Given the description of an element on the screen output the (x, y) to click on. 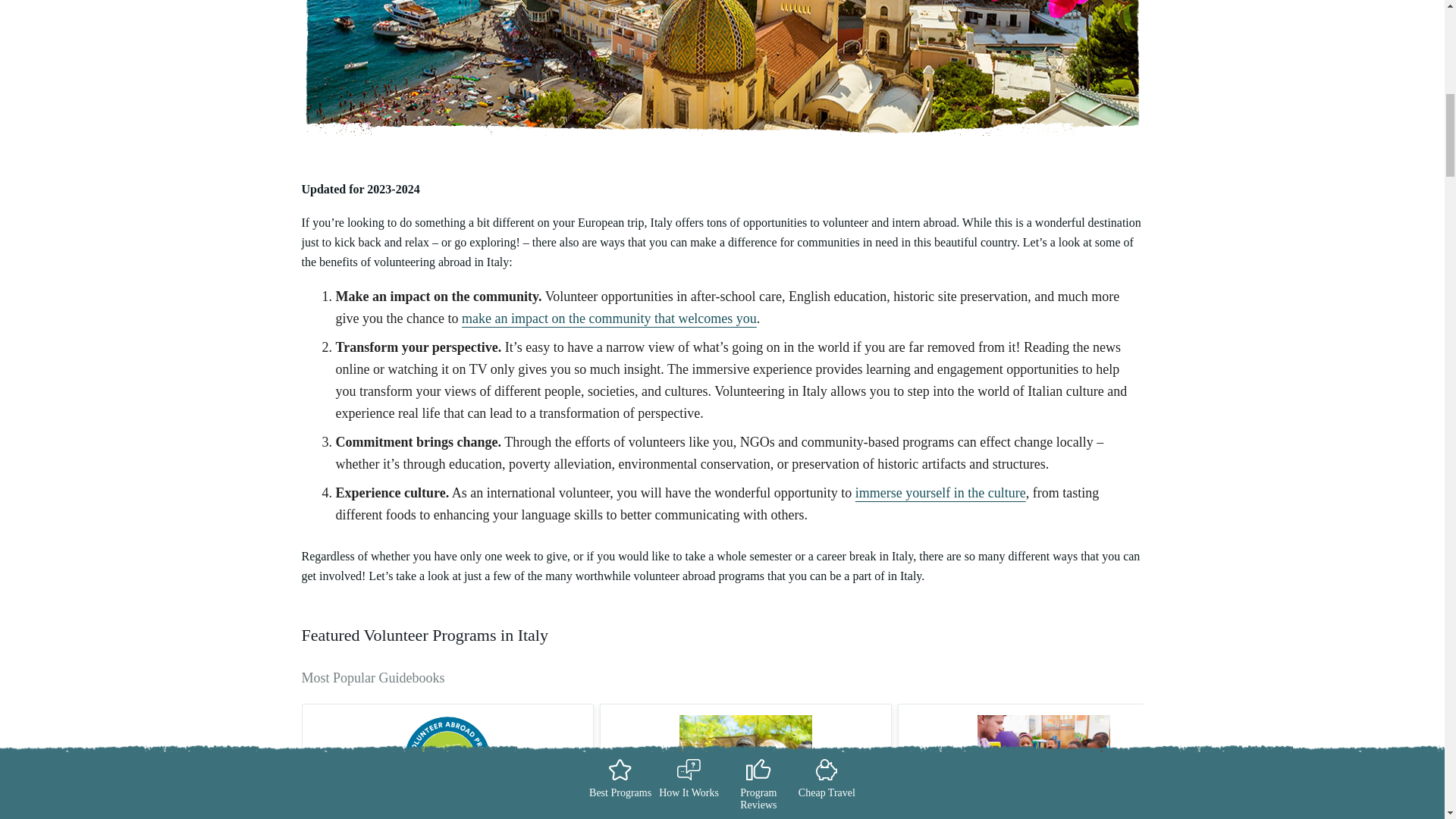
make an impact on the community that welcomes you (609, 318)
immerse yourself in the culture (941, 492)
